Given the description of an element on the screen output the (x, y) to click on. 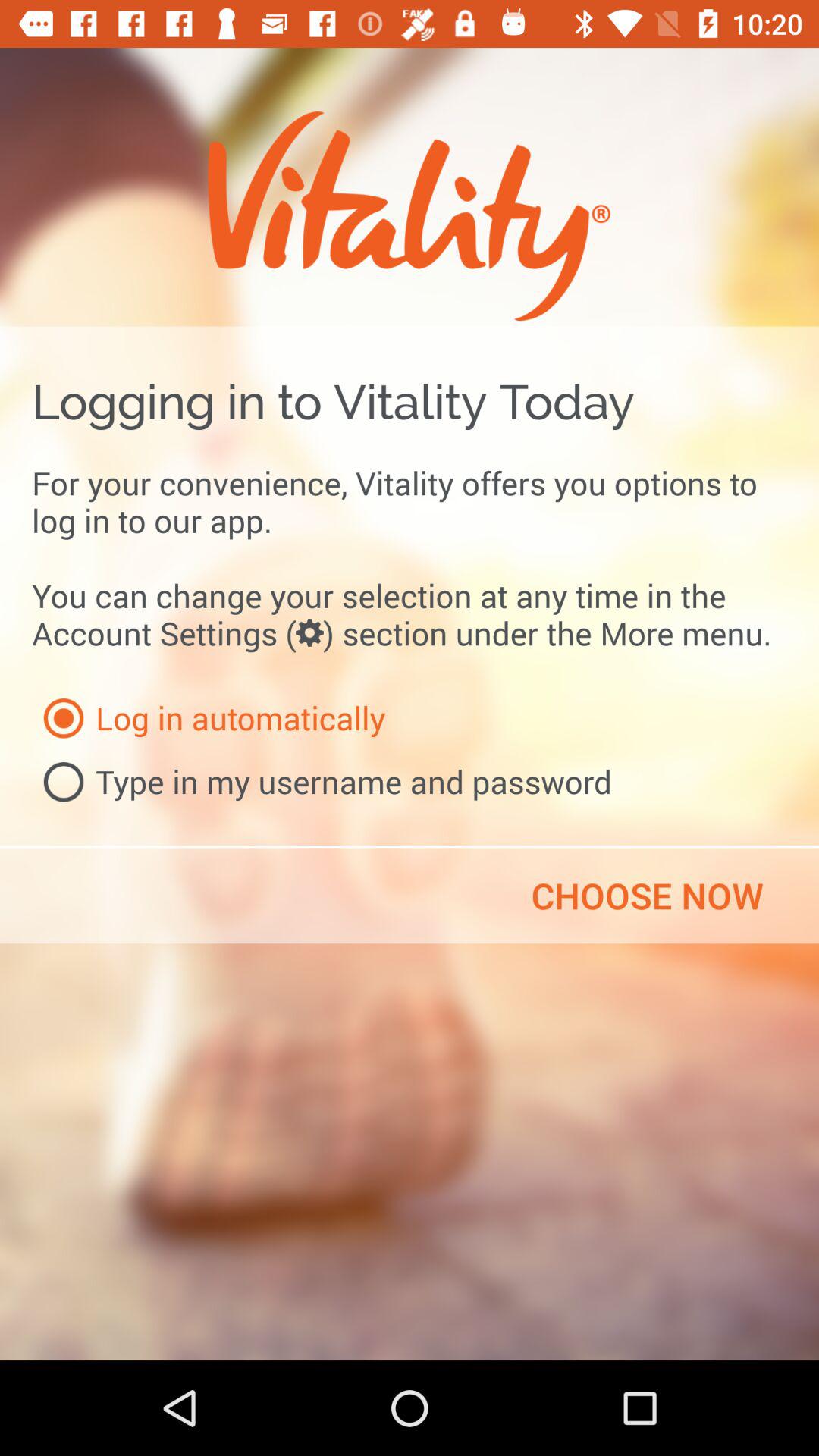
press the item on the right (647, 895)
